Given the description of an element on the screen output the (x, y) to click on. 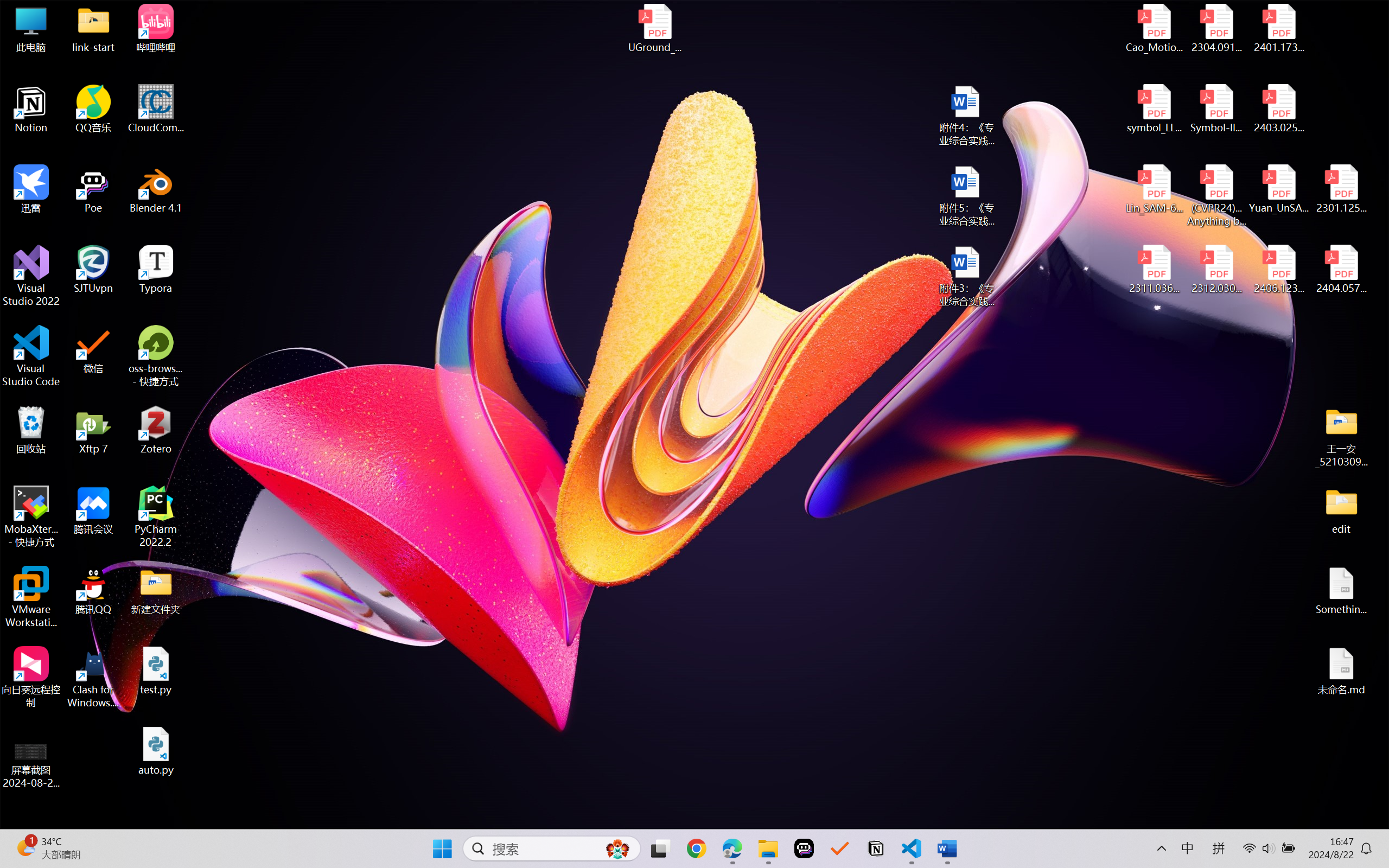
SJTUvpn (93, 269)
VMware Workstation Pro (31, 597)
CloudCompare (156, 109)
Xftp 7 (93, 430)
Visual Studio 2022 (31, 276)
